Given the description of an element on the screen output the (x, y) to click on. 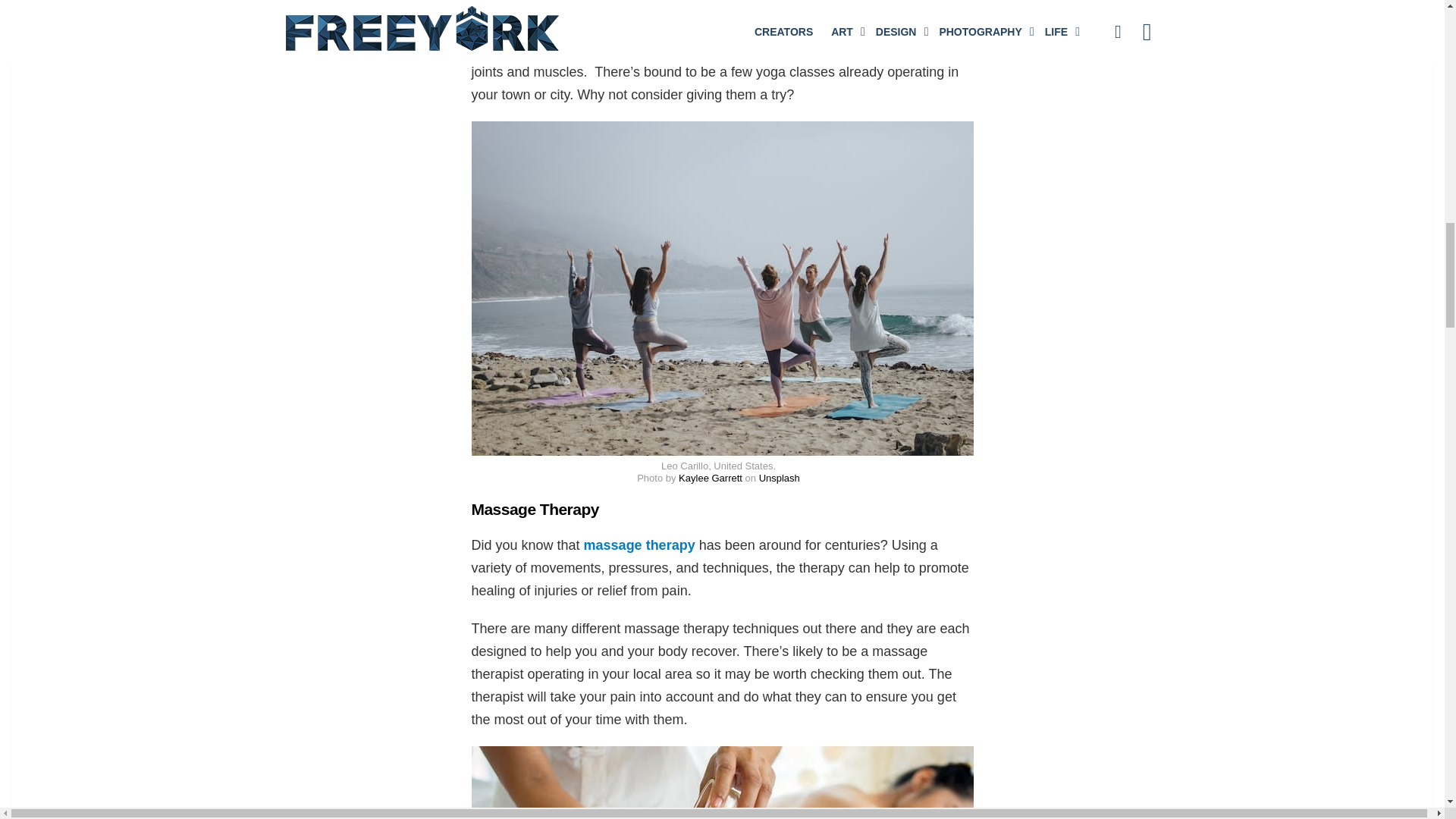
Safe and Effective Ways to Relieve Your Pain (722, 782)
